Given the description of an element on the screen output the (x, y) to click on. 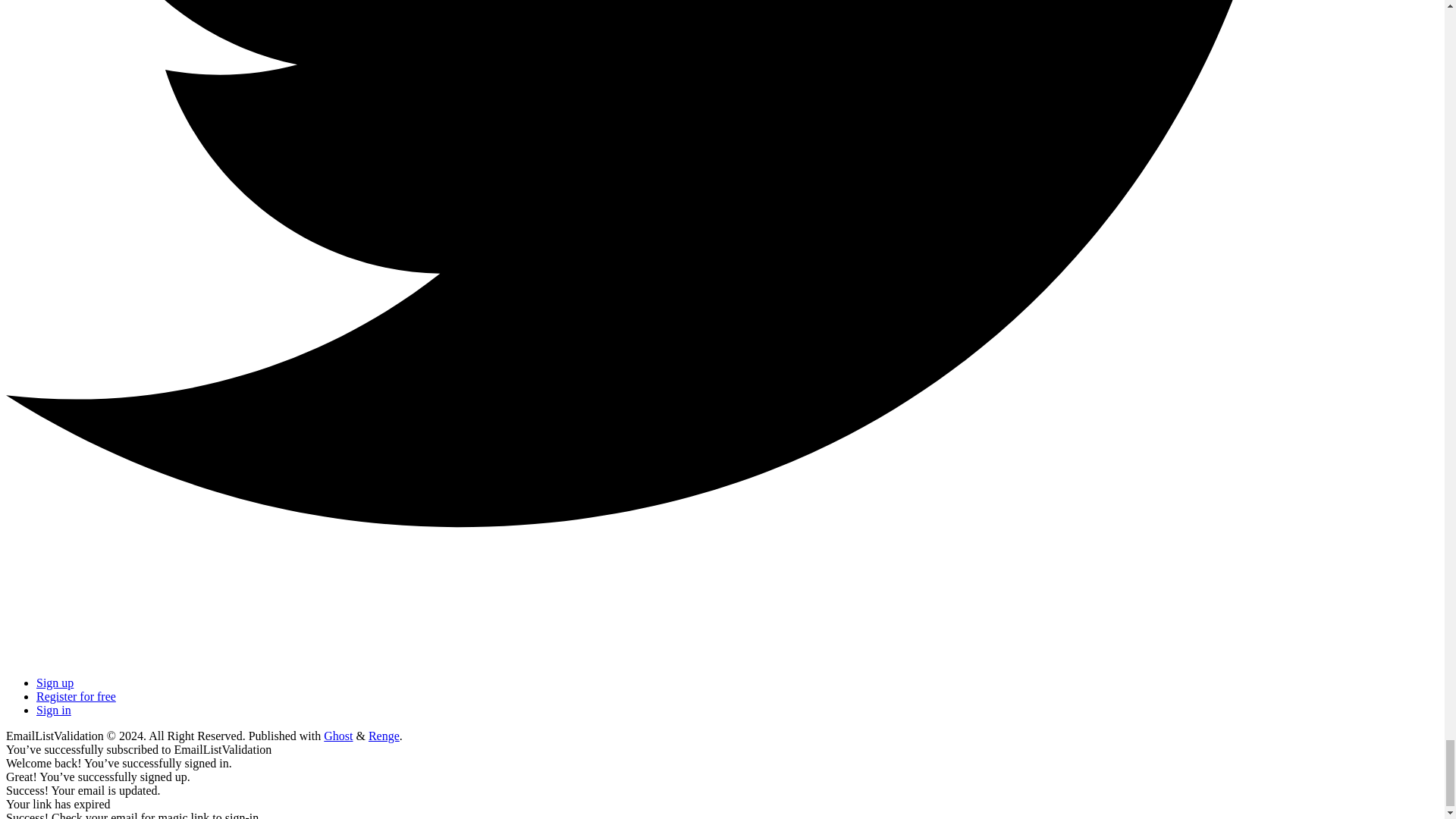
Register for free (76, 696)
Sign in (53, 709)
Sign up (55, 682)
